Given the description of an element on the screen output the (x, y) to click on. 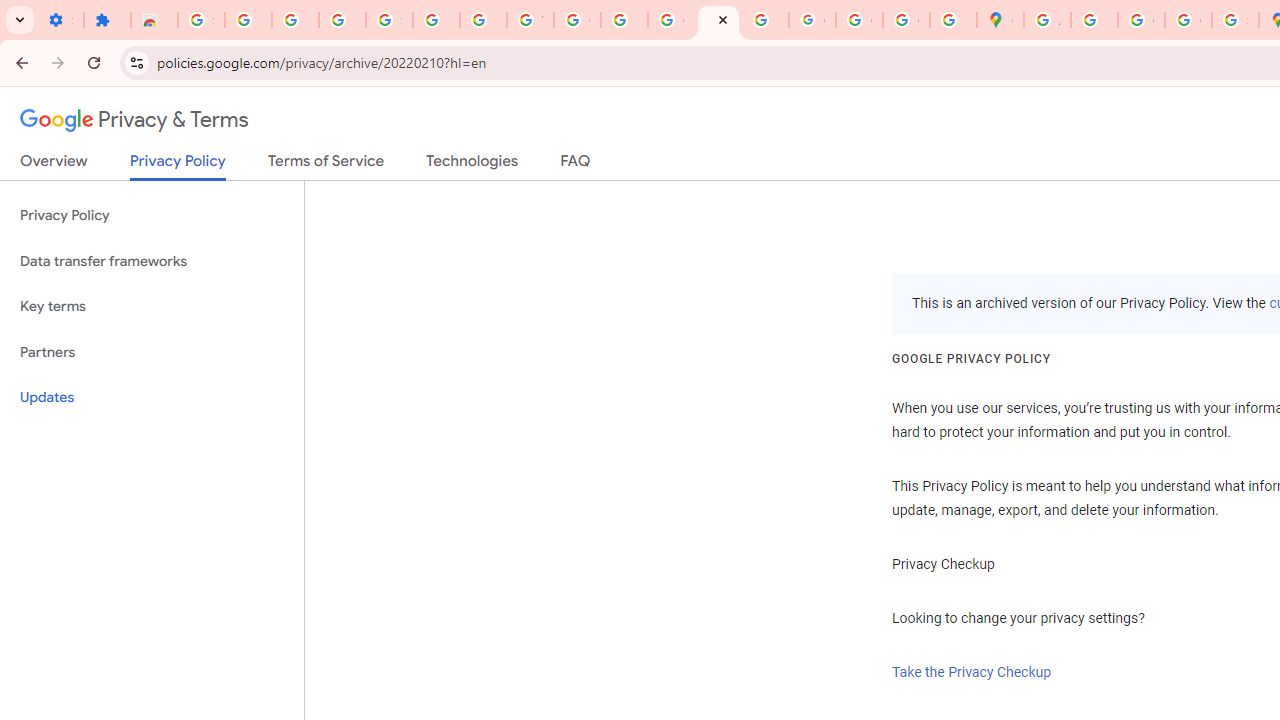
Privacy & Terms (134, 120)
Safety in Our Products - Google Safety Center (1235, 20)
https://scholar.google.com/ (623, 20)
